Given the description of an element on the screen output the (x, y) to click on. 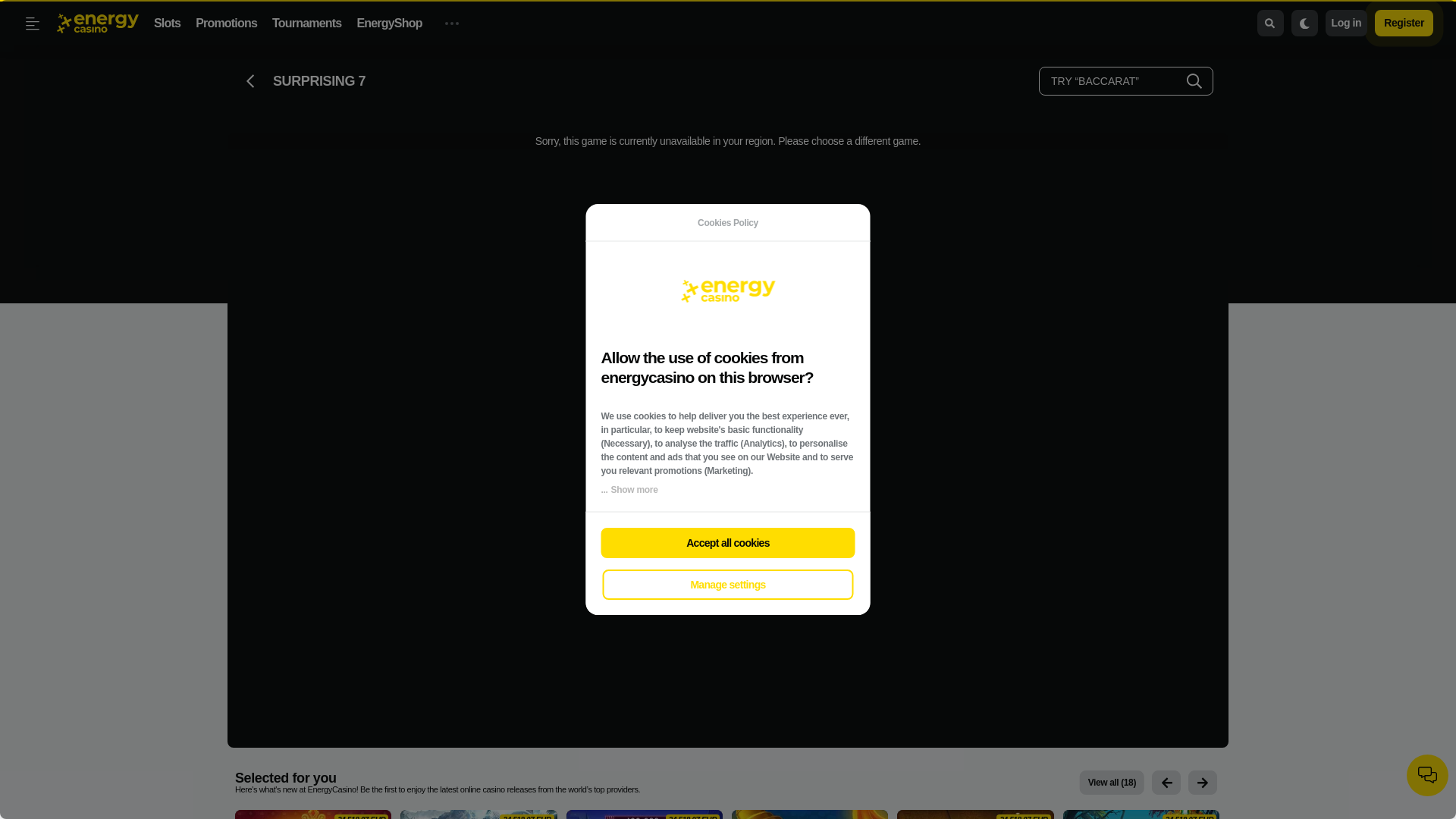
Log in (1346, 22)
EnergyShop (389, 23)
Register (1403, 22)
Tournaments (306, 23)
Promotions (226, 23)
